Given the description of an element on the screen output the (x, y) to click on. 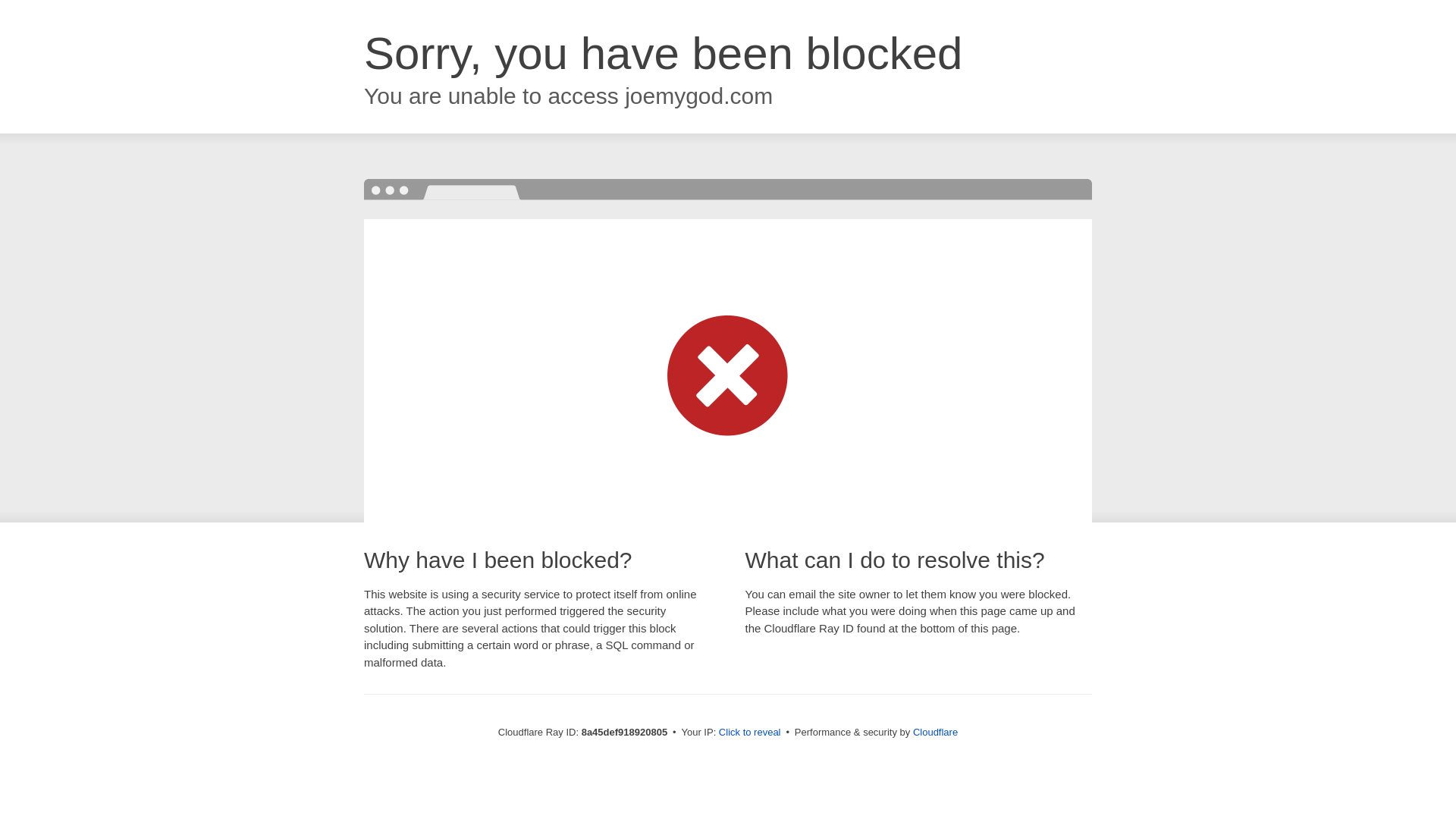
Click to reveal (749, 732)
Cloudflare (935, 731)
